Given the description of an element on the screen output the (x, y) to click on. 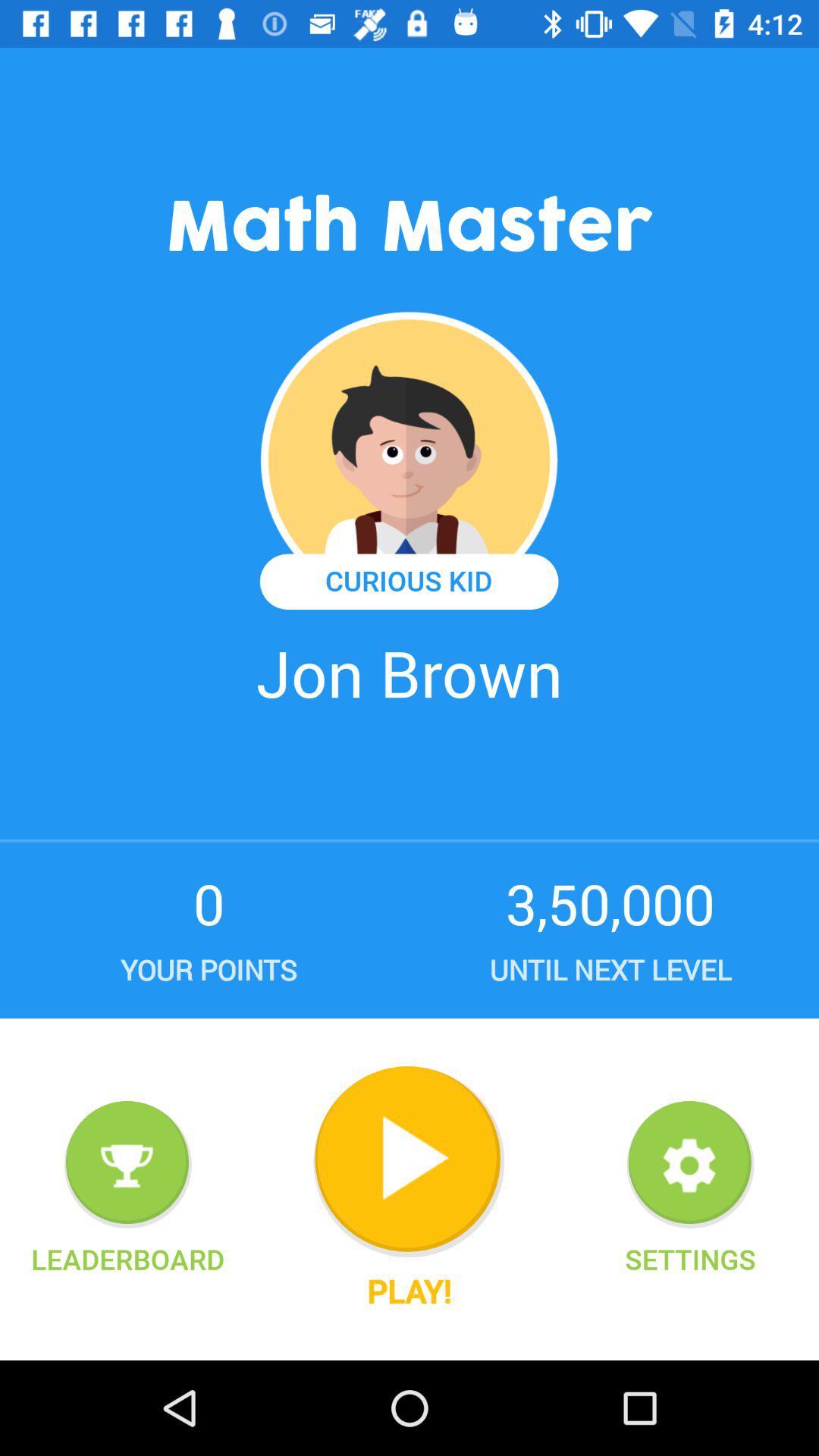
turn on icon to the right of the leaderboard icon (408, 1161)
